Given the description of an element on the screen output the (x, y) to click on. 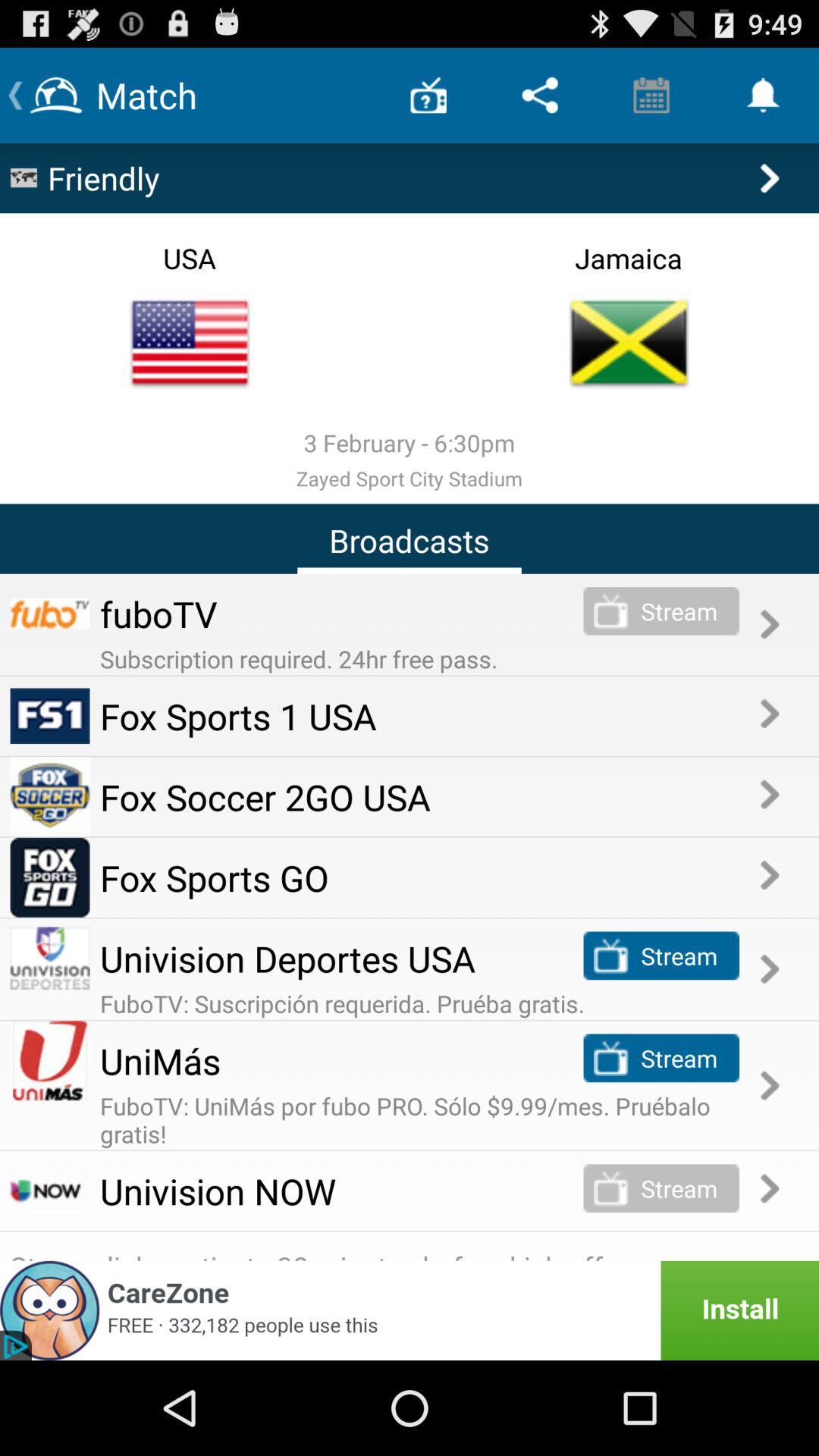
select jamaica (628, 343)
